Given the description of an element on the screen output the (x, y) to click on. 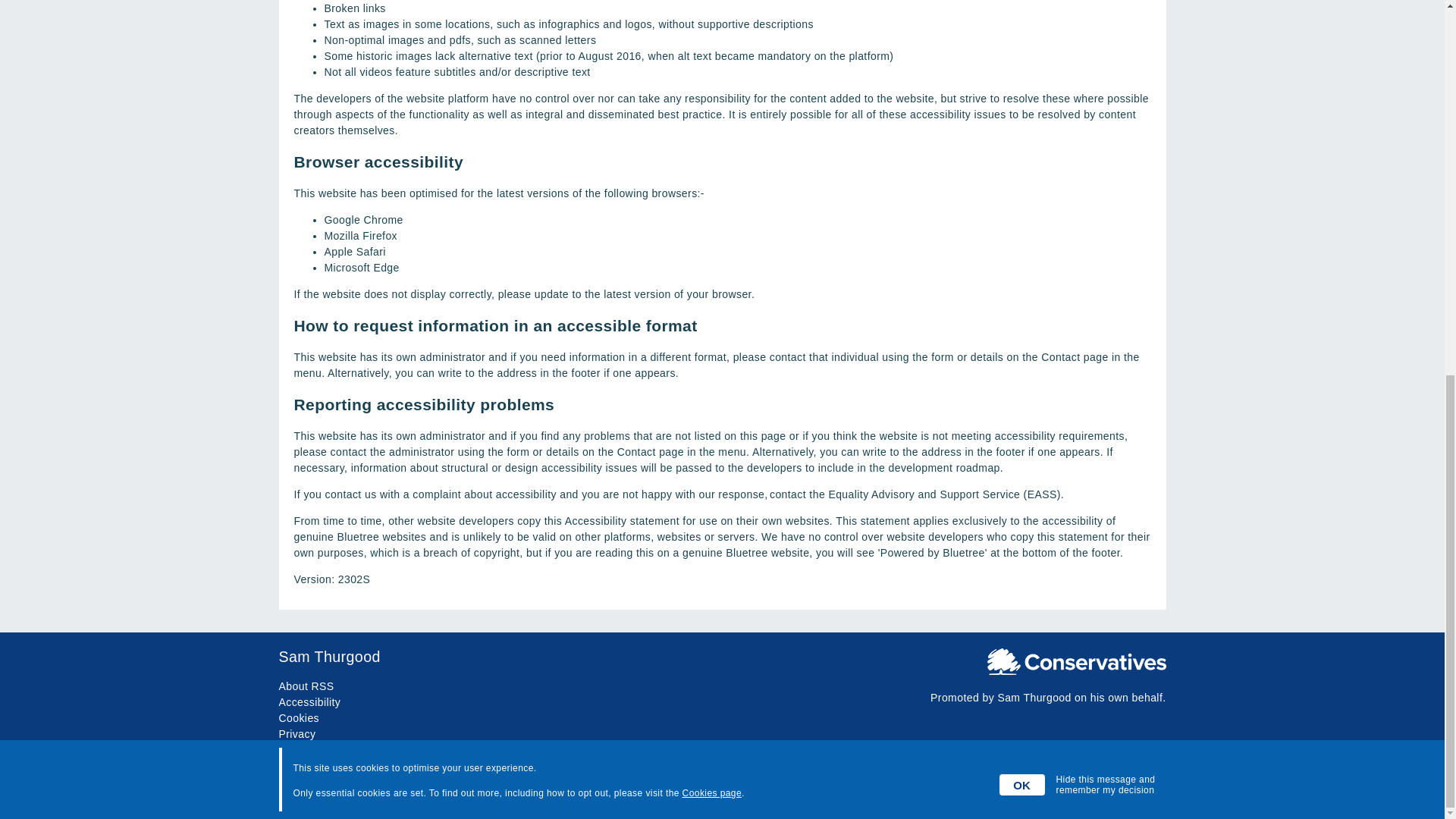
Cookies (299, 717)
Privacy (297, 734)
Accessibility (309, 702)
About RSS (306, 686)
OK (1021, 94)
Bluetree (1145, 793)
Sam Thurgood (722, 656)
Cookies page (711, 102)
